Given the description of an element on the screen output the (x, y) to click on. 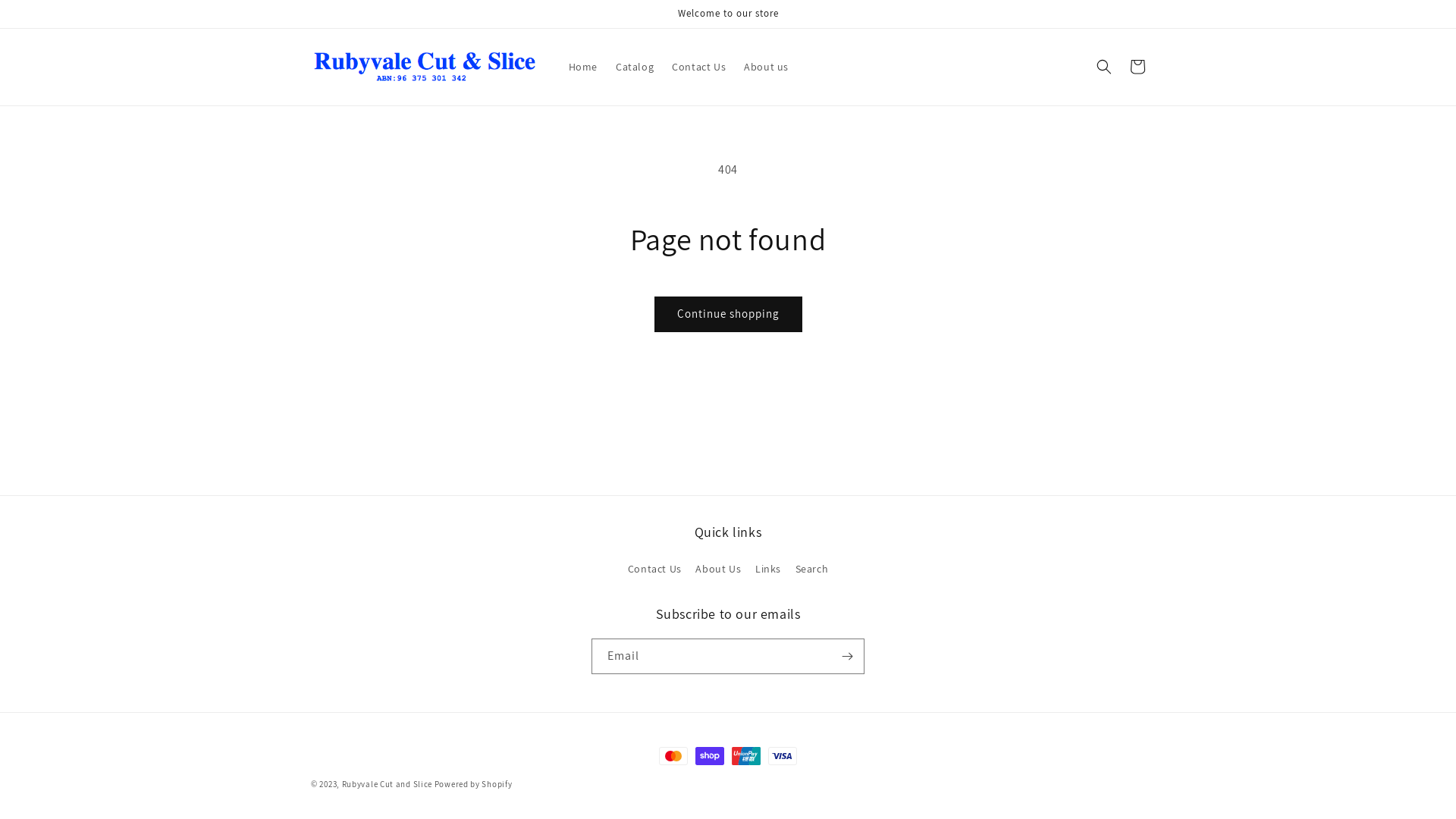
Search Element type: text (811, 568)
Continue shopping Element type: text (727, 314)
Powered by Shopify Element type: text (473, 783)
About Us Element type: text (717, 568)
Contact Us Element type: text (698, 66)
About us Element type: text (765, 66)
Links Element type: text (768, 568)
Home Element type: text (582, 66)
Contact Us Element type: text (654, 570)
Cart Element type: text (1137, 66)
Rubyvale Cut and Slice Element type: text (387, 783)
Catalog Element type: text (634, 66)
